Given the description of an element on the screen output the (x, y) to click on. 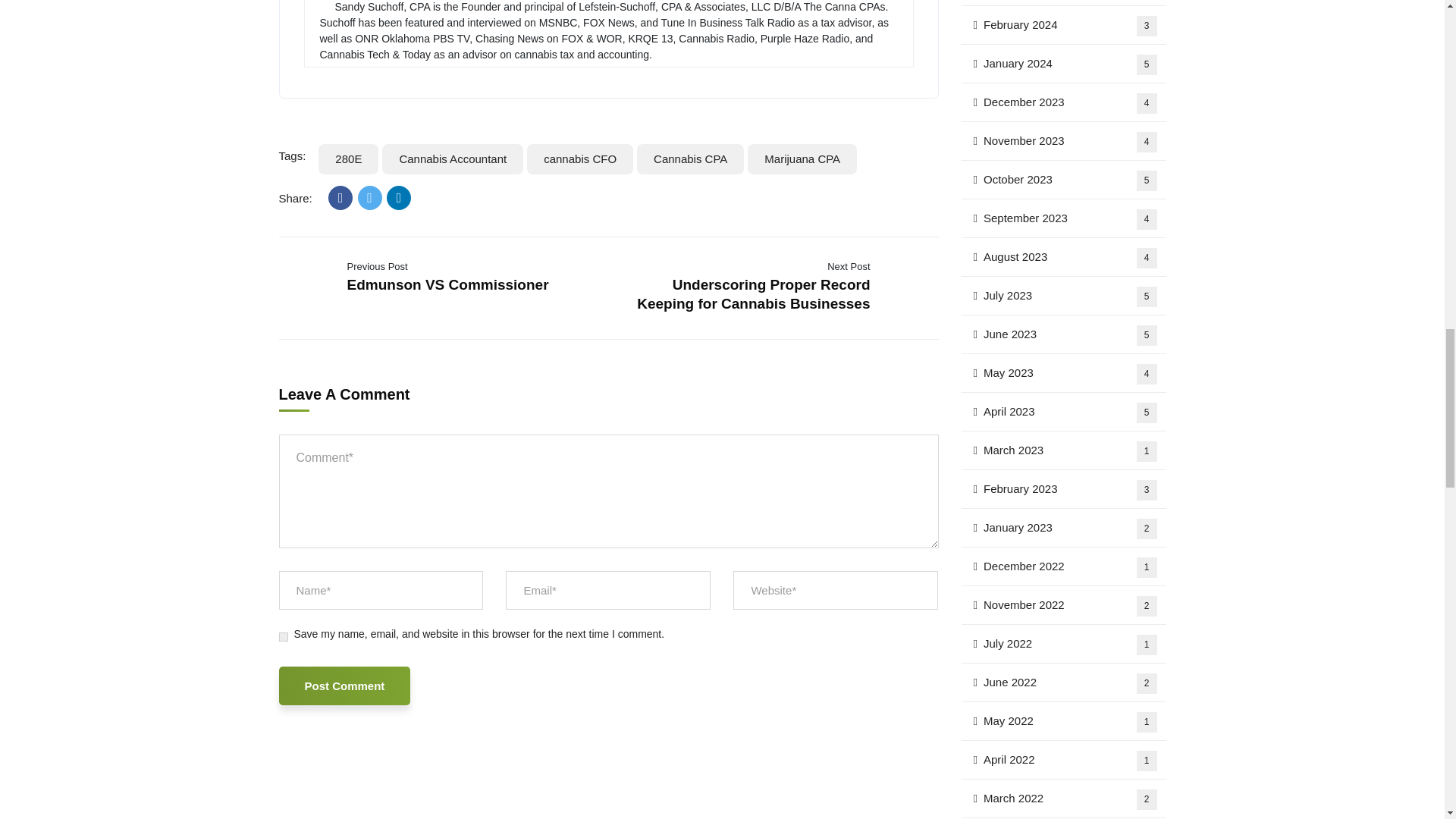
Twitter (369, 197)
LinkedIn (398, 197)
Post Comment (344, 685)
Facebook (340, 197)
